Given the description of an element on the screen output the (x, y) to click on. 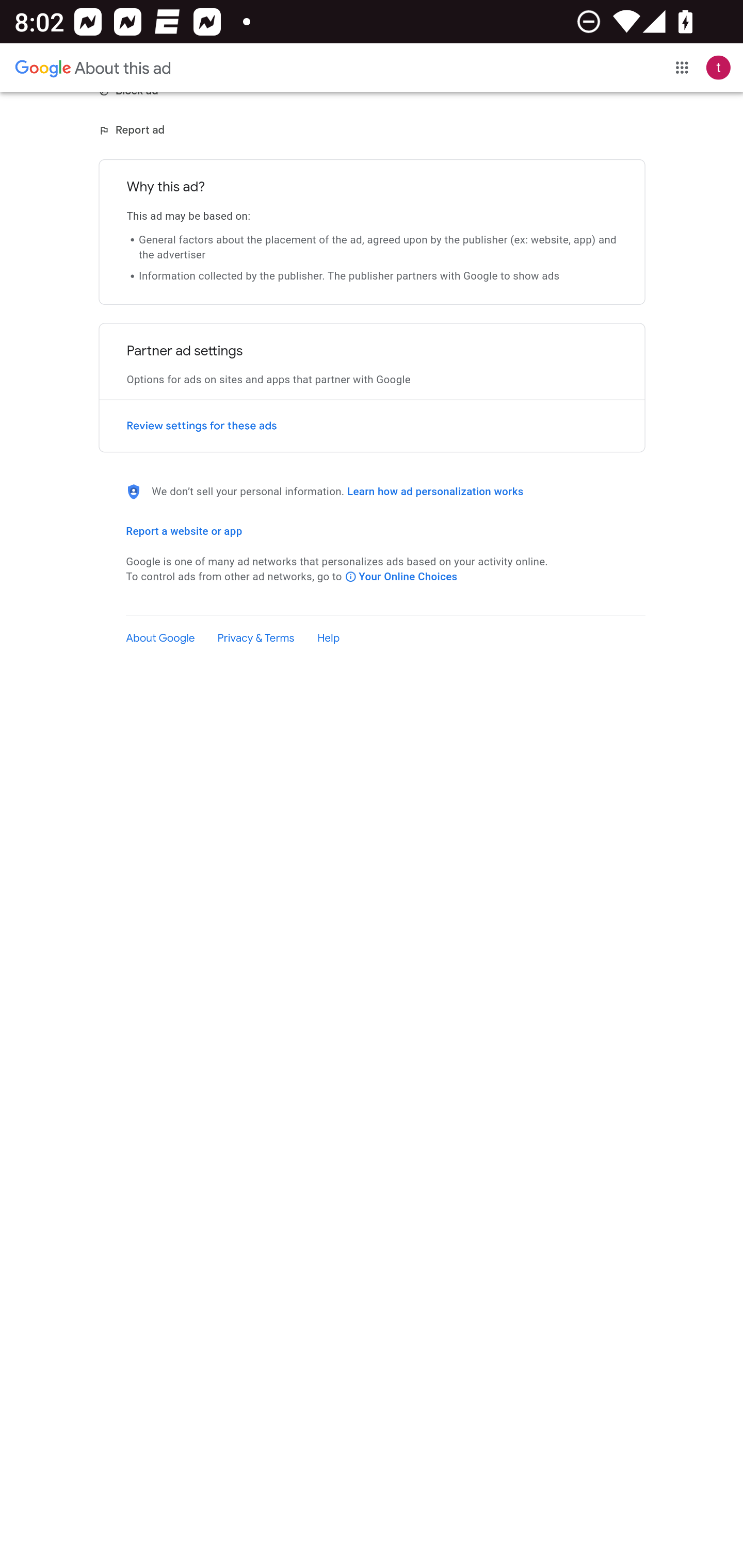
Google apps (681, 67)
Report ad (opens in new tab) Report ad (133, 129)
Review settings for these ads (371, 425)
Learn how ad personalization works (434, 492)
Report a website or app (183, 531)
Your Online Choices (400, 576)
About Google (159, 638)
Privacy & Terms (255, 638)
Help (328, 638)
